Given the description of an element on the screen output the (x, y) to click on. 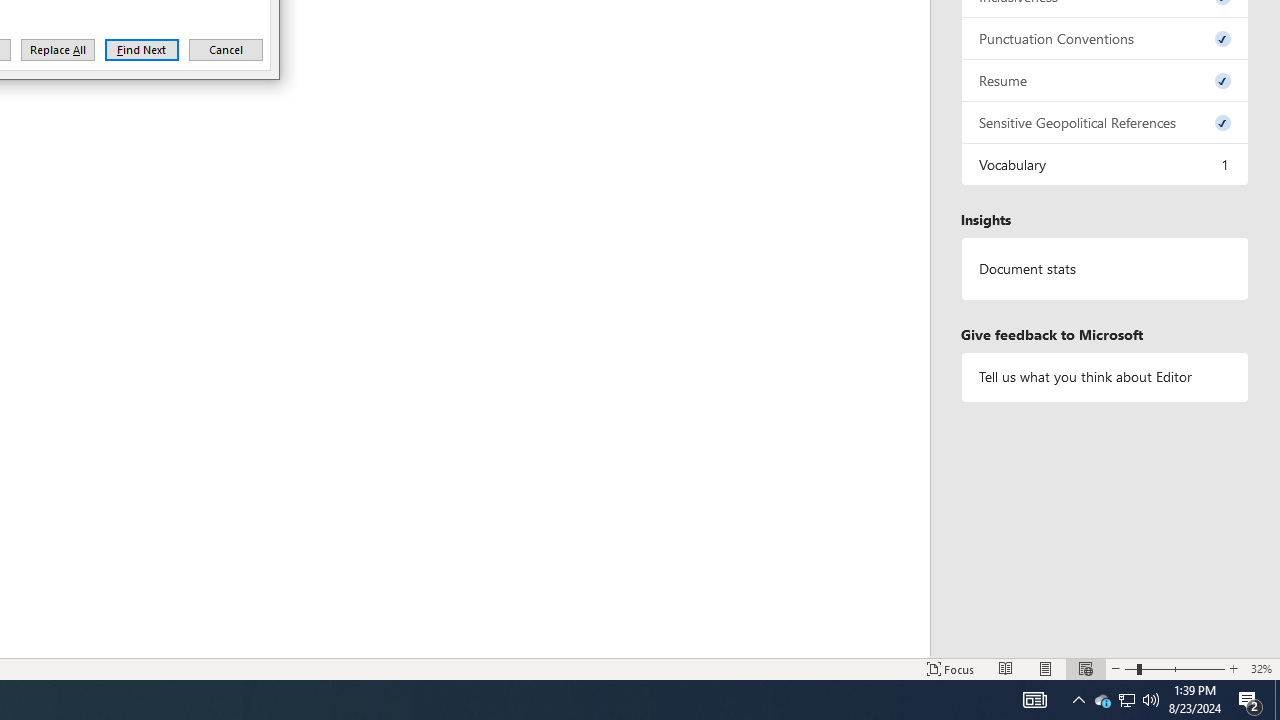
Tell us what you think about Editor (1105, 376)
Resume, 0 issues. Press space or enter to review items. (1105, 79)
Cancel (225, 49)
Document statistics (1105, 269)
